Given the description of an element on the screen output the (x, y) to click on. 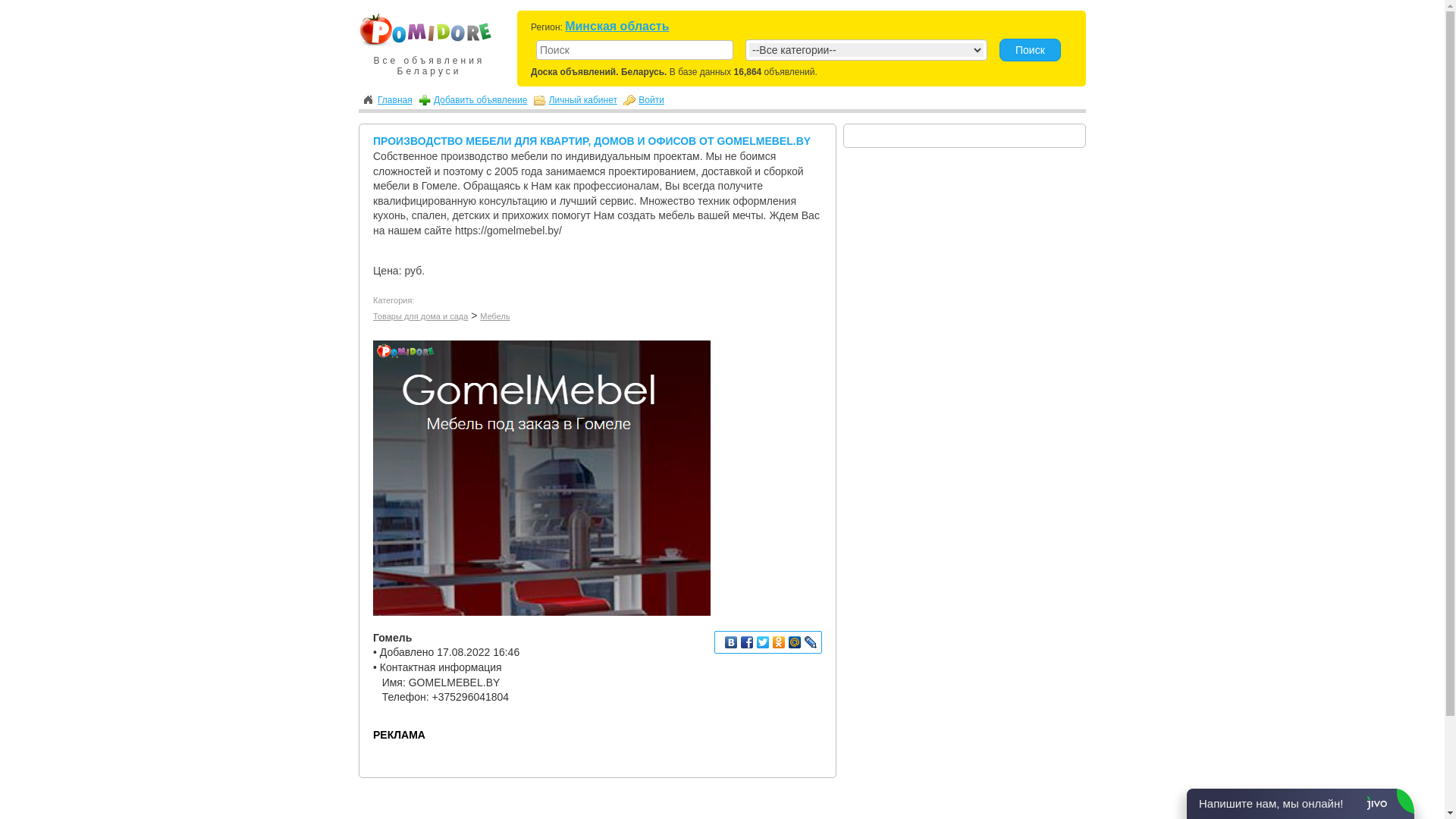
Twitter Element type: hover (763, 642)
LiveJournal Element type: hover (811, 642)
Facebook Element type: hover (747, 642)
